Given the description of an element on the screen output the (x, y) to click on. 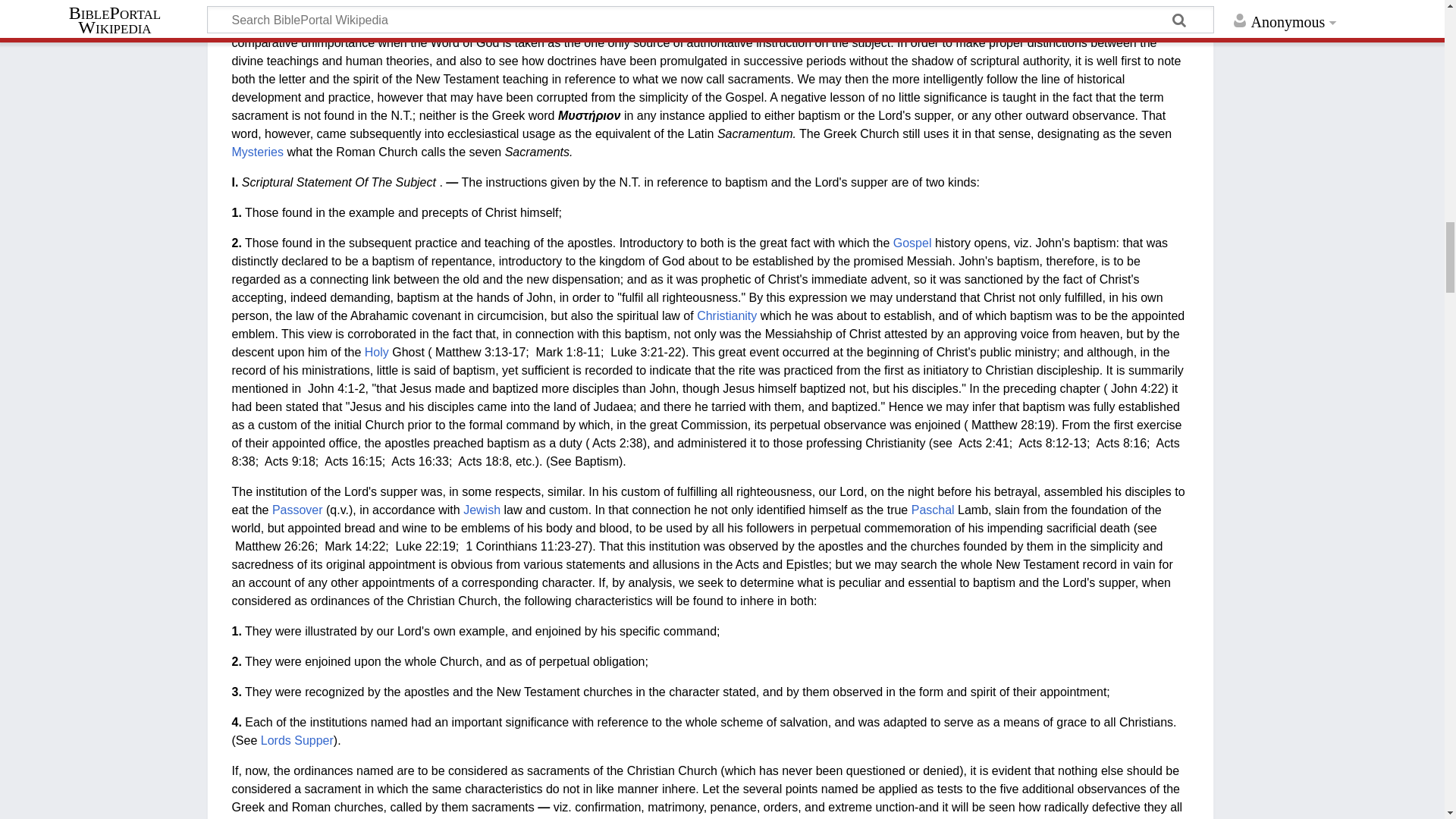
Holy (376, 351)
Gospel (912, 242)
Christianity (727, 315)
Mysteries (257, 151)
